Given the description of an element on the screen output the (x, y) to click on. 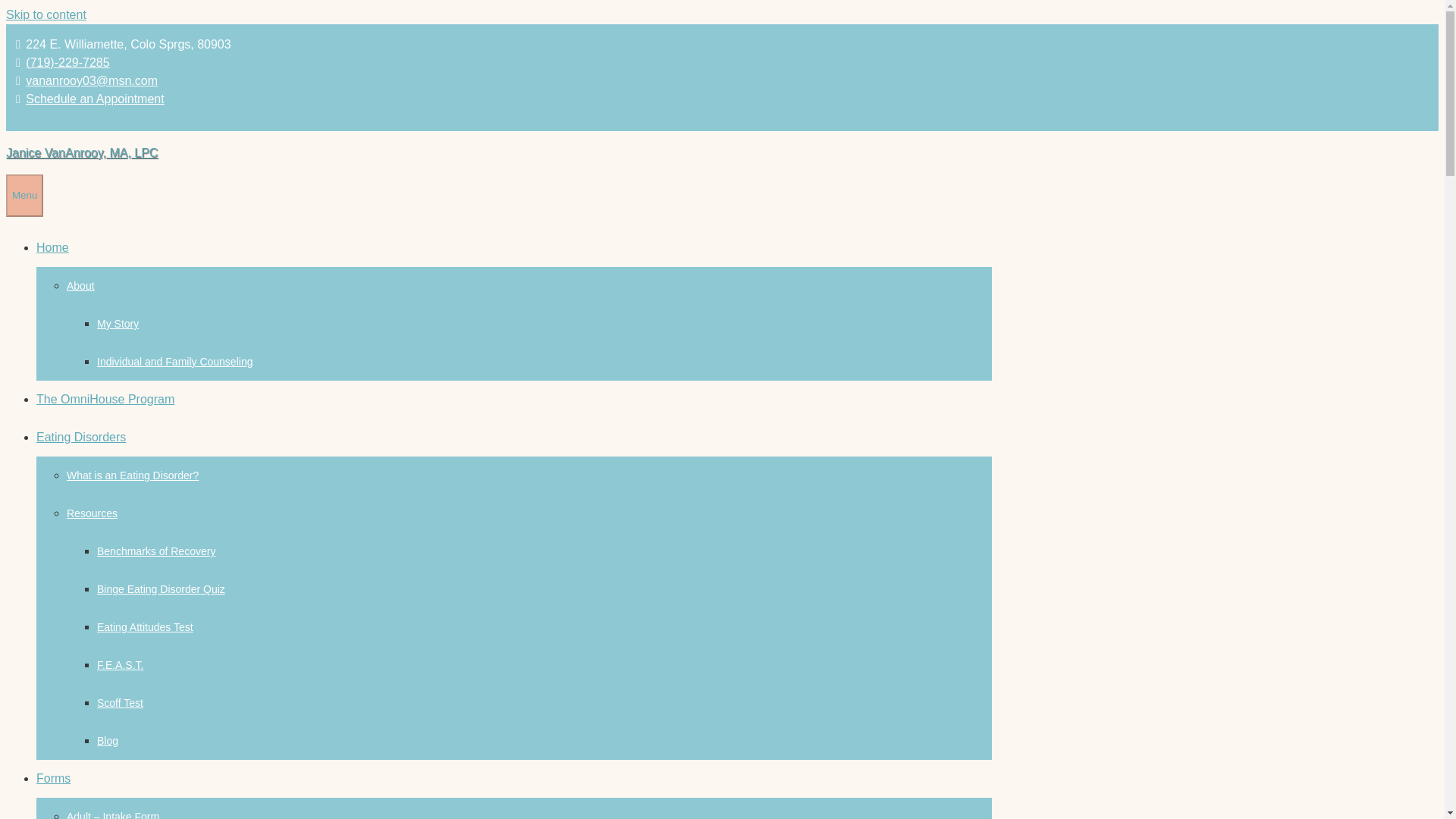
Forms (52, 778)
Benchmarks of Recovery (156, 551)
Skip to content (45, 14)
Scoff Test (119, 702)
Home (52, 246)
Menu (24, 195)
Eating Attitudes Test (145, 626)
Blog (107, 740)
Individual and Family Counseling (174, 361)
Schedule an Appointment (94, 98)
Binge Eating Disorder Quiz (161, 589)
What is an Eating Disorder? (132, 475)
Skip to content (45, 14)
My Story (117, 323)
Eating Disorders (80, 436)
